Given the description of an element on the screen output the (x, y) to click on. 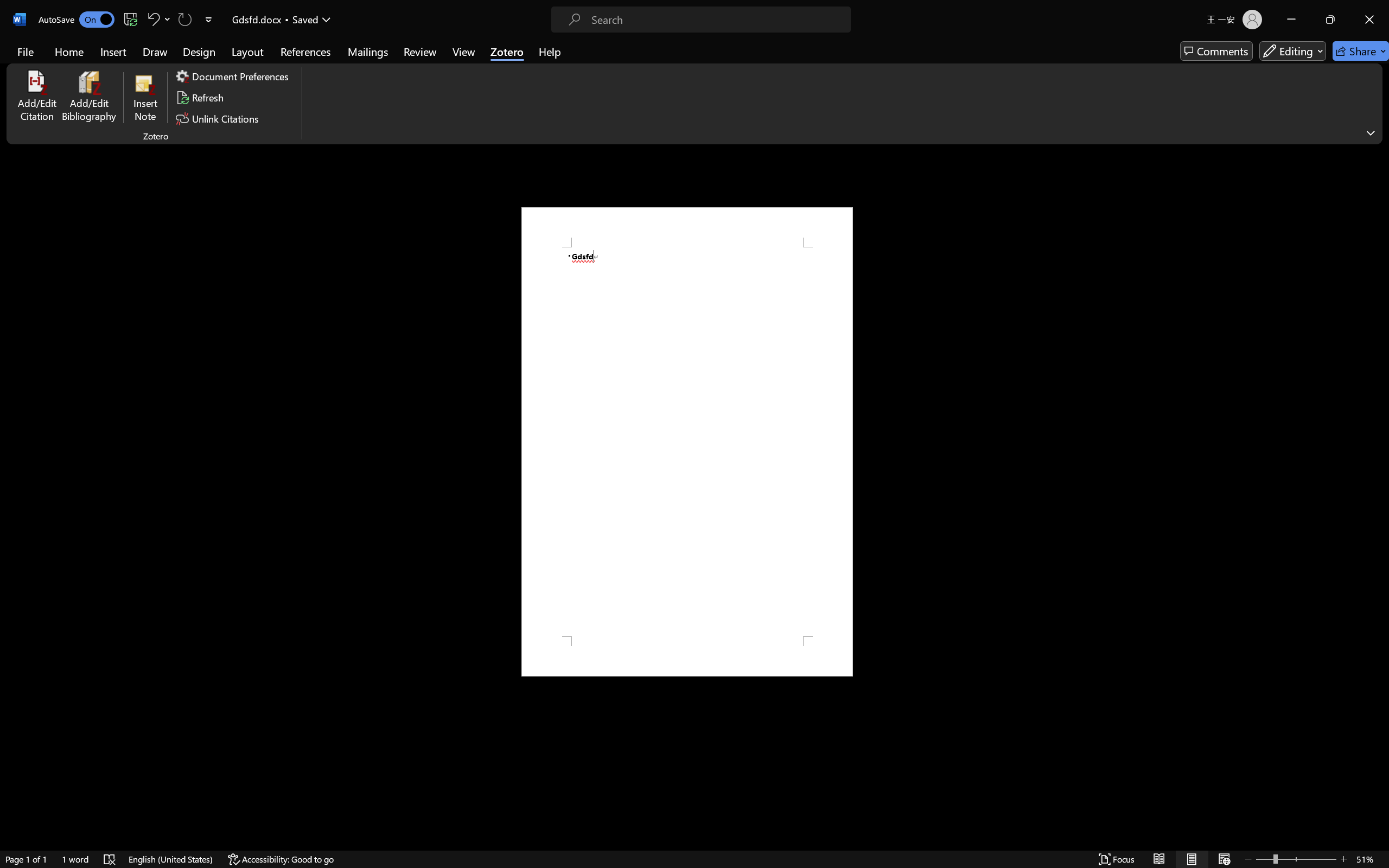
Page 1 content (686, 441)
